Given the description of an element on the screen output the (x, y) to click on. 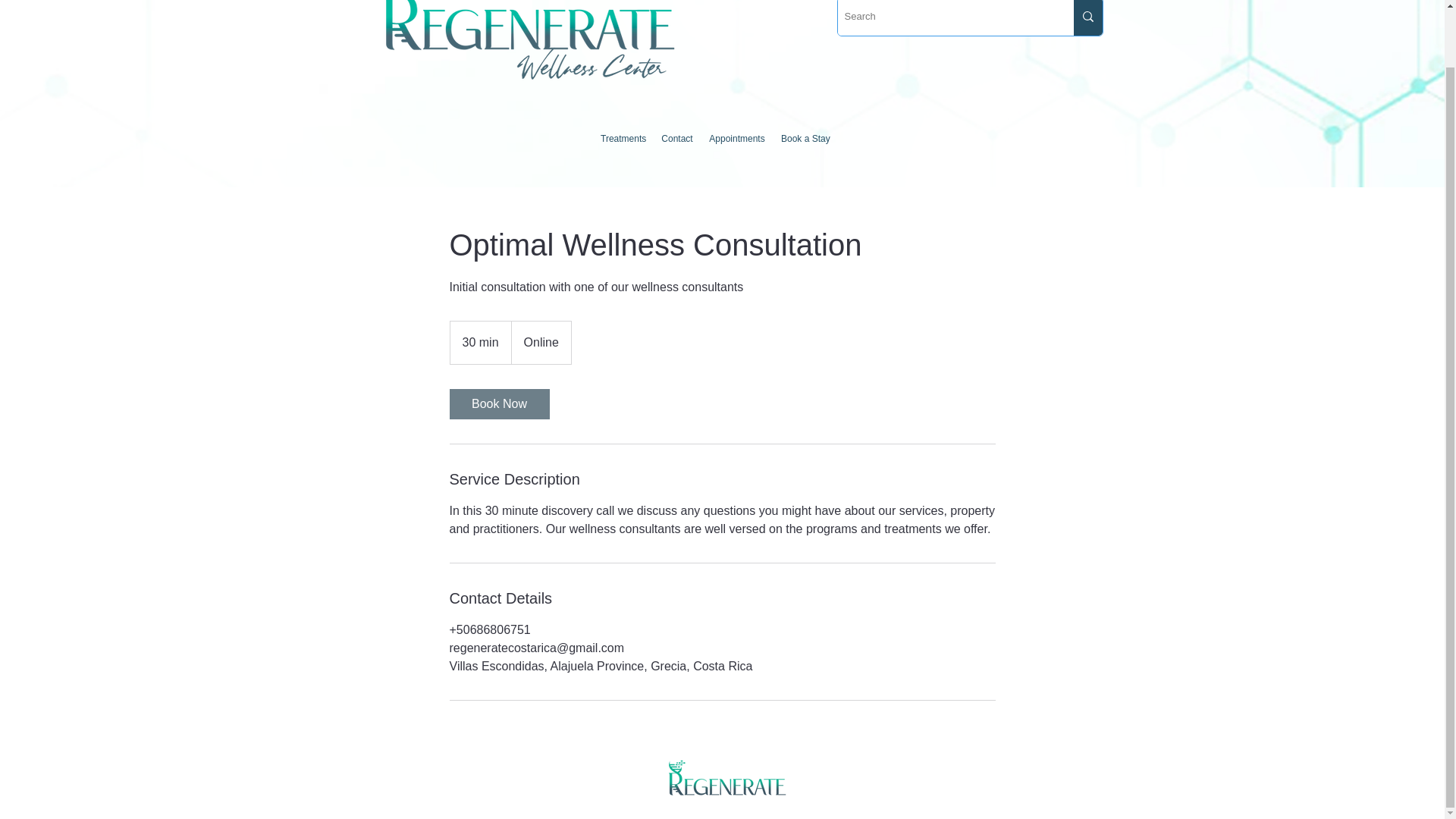
Appointments (736, 138)
Book Now (498, 404)
Book a Stay (804, 138)
Contact (676, 138)
REGENERATE LOGO TRANSPARENCIA.png (725, 779)
